Given the description of an element on the screen output the (x, y) to click on. 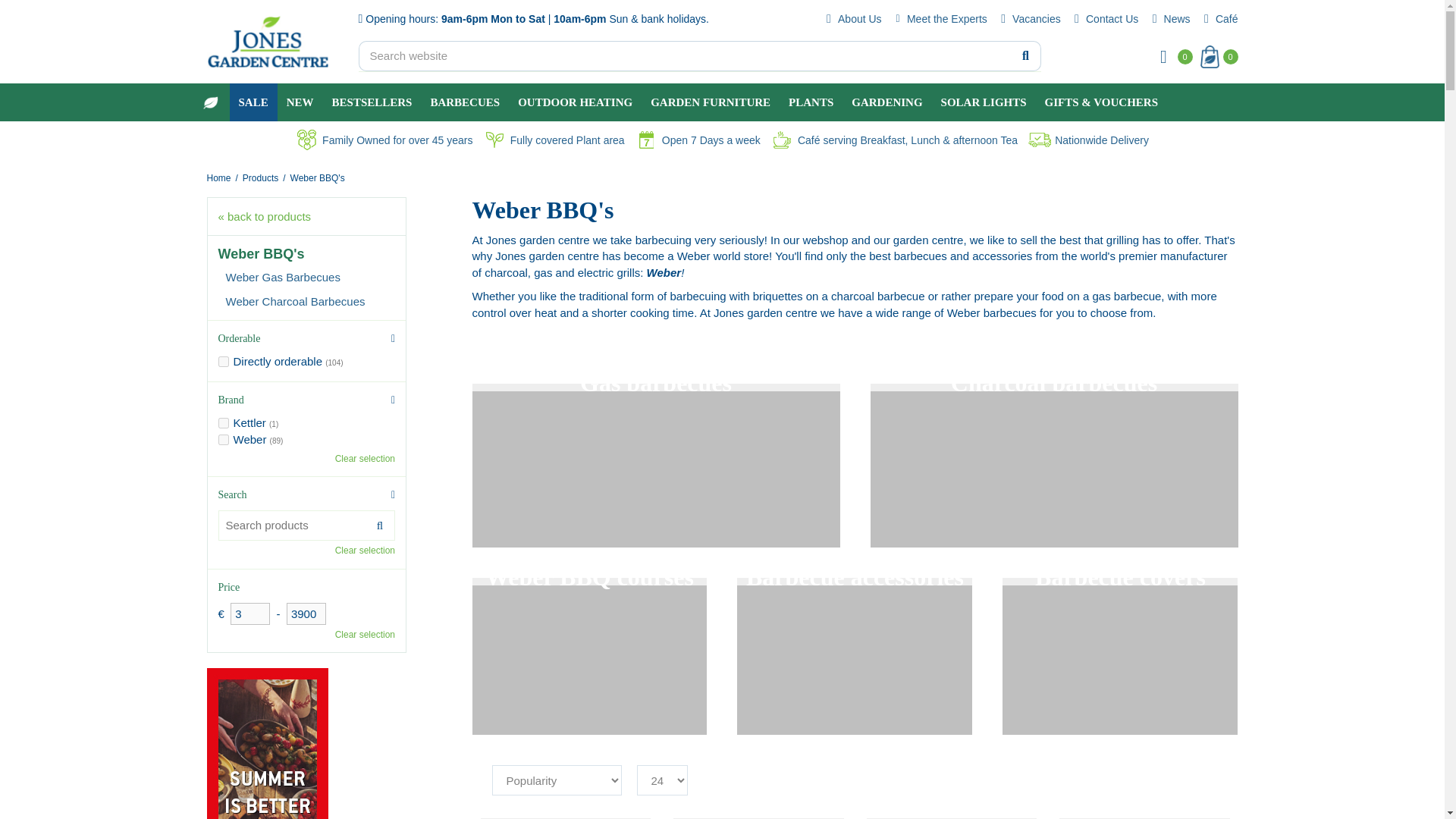
PLANTS (810, 102)
BESTSELLERS (372, 102)
New products (300, 102)
No items in wishlist (1173, 56)
Go to the wishlist (1168, 56)
weber (223, 439)
Weber BBQ (317, 177)
Barbecues (464, 102)
Vacancies (1029, 18)
Meet the Experts (939, 18)
